Given the description of an element on the screen output the (x, y) to click on. 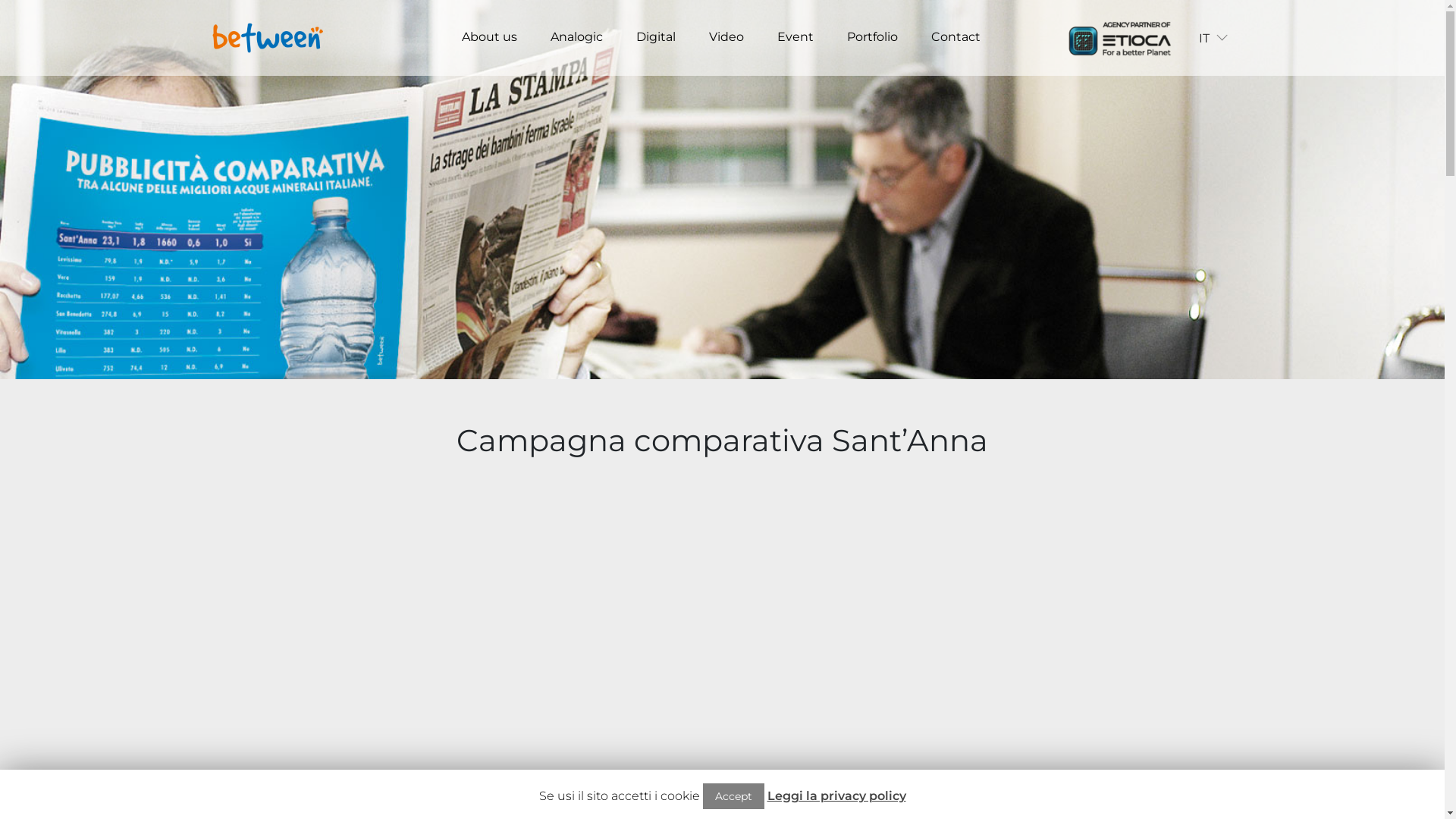
Analogic Element type: text (576, 37)
Event Element type: text (795, 37)
Contact Element type: text (955, 37)
Leggi la privacy policy Element type: text (836, 796)
About us Element type: text (489, 37)
Video Element type: text (726, 37)
Accept Element type: text (732, 796)
IT Element type: text (1212, 38)
Portfolio Element type: text (872, 37)
Digital Element type: text (655, 37)
